Given the description of an element on the screen output the (x, y) to click on. 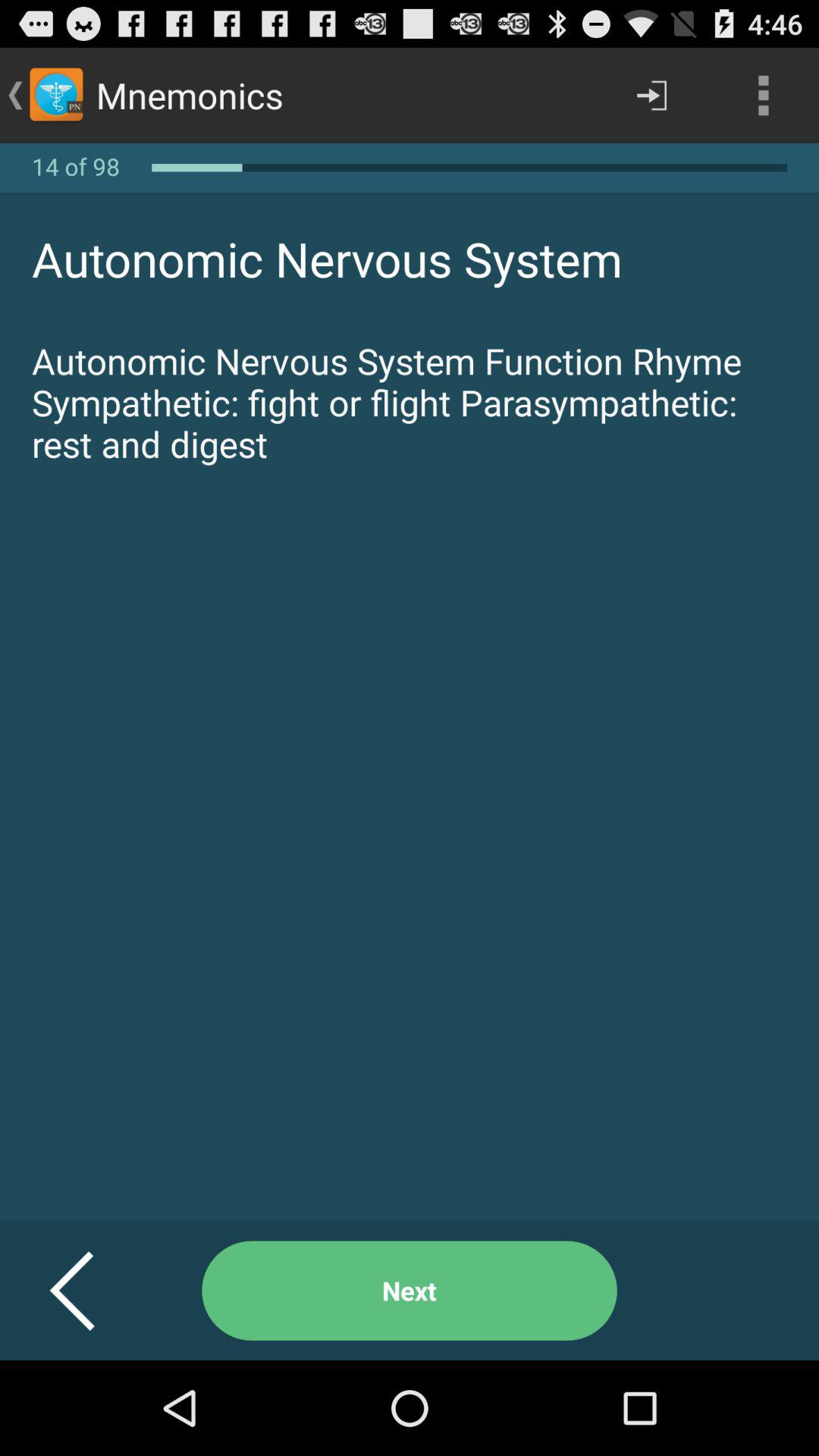
turn on the icon to the right of the mnemonics (651, 95)
